Given the description of an element on the screen output the (x, y) to click on. 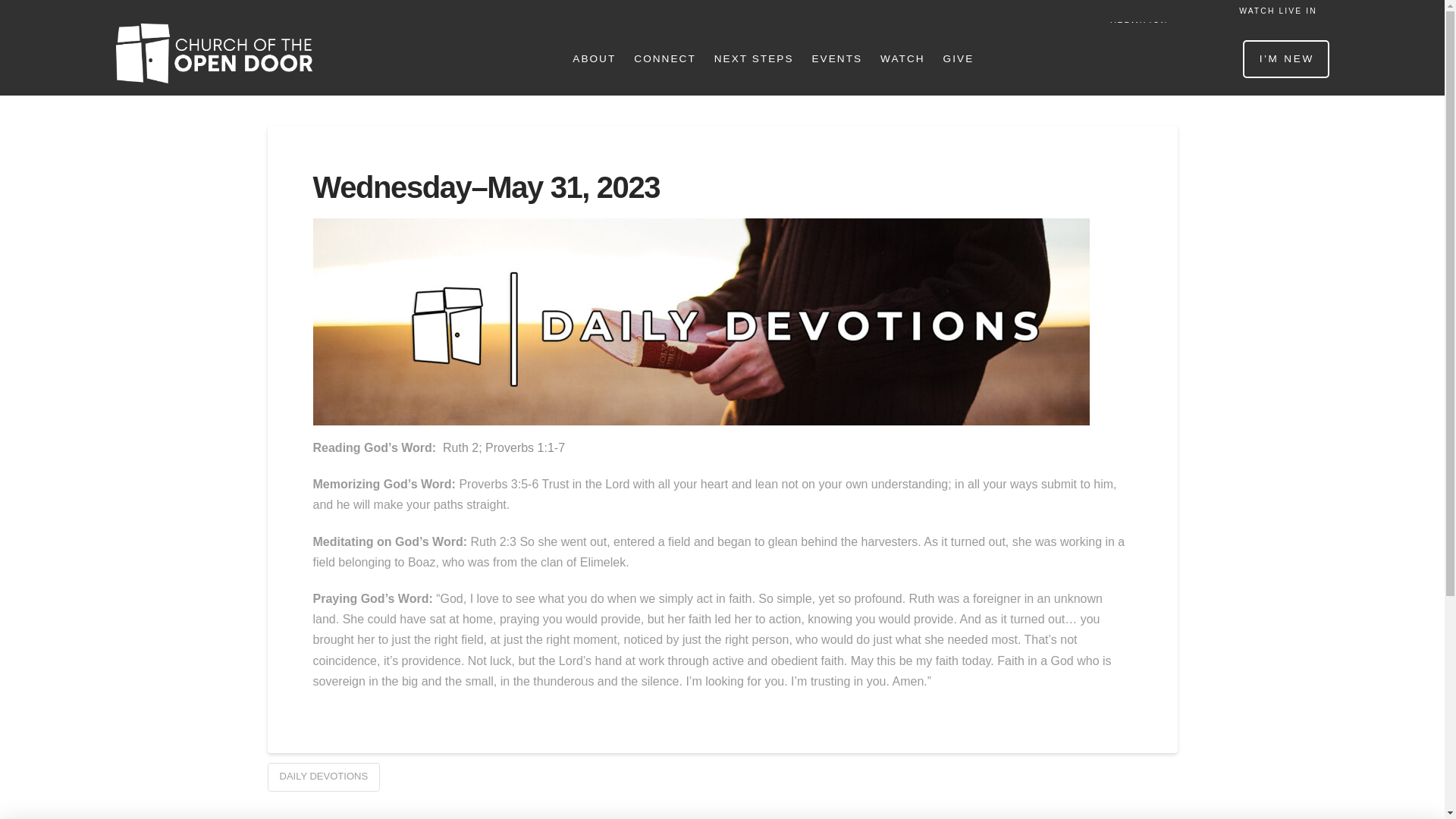
VERMILION (1166, 25)
Ruth 2; Proverbs 1:1-7 (503, 447)
WATCH LIVE IN (1277, 11)
ABOUT (593, 59)
WATCH (901, 59)
CONNECT (663, 59)
EVENTS (836, 59)
NEXT STEPS (753, 59)
I'M NEW (1286, 58)
GIVE (957, 59)
